Given the description of an element on the screen output the (x, y) to click on. 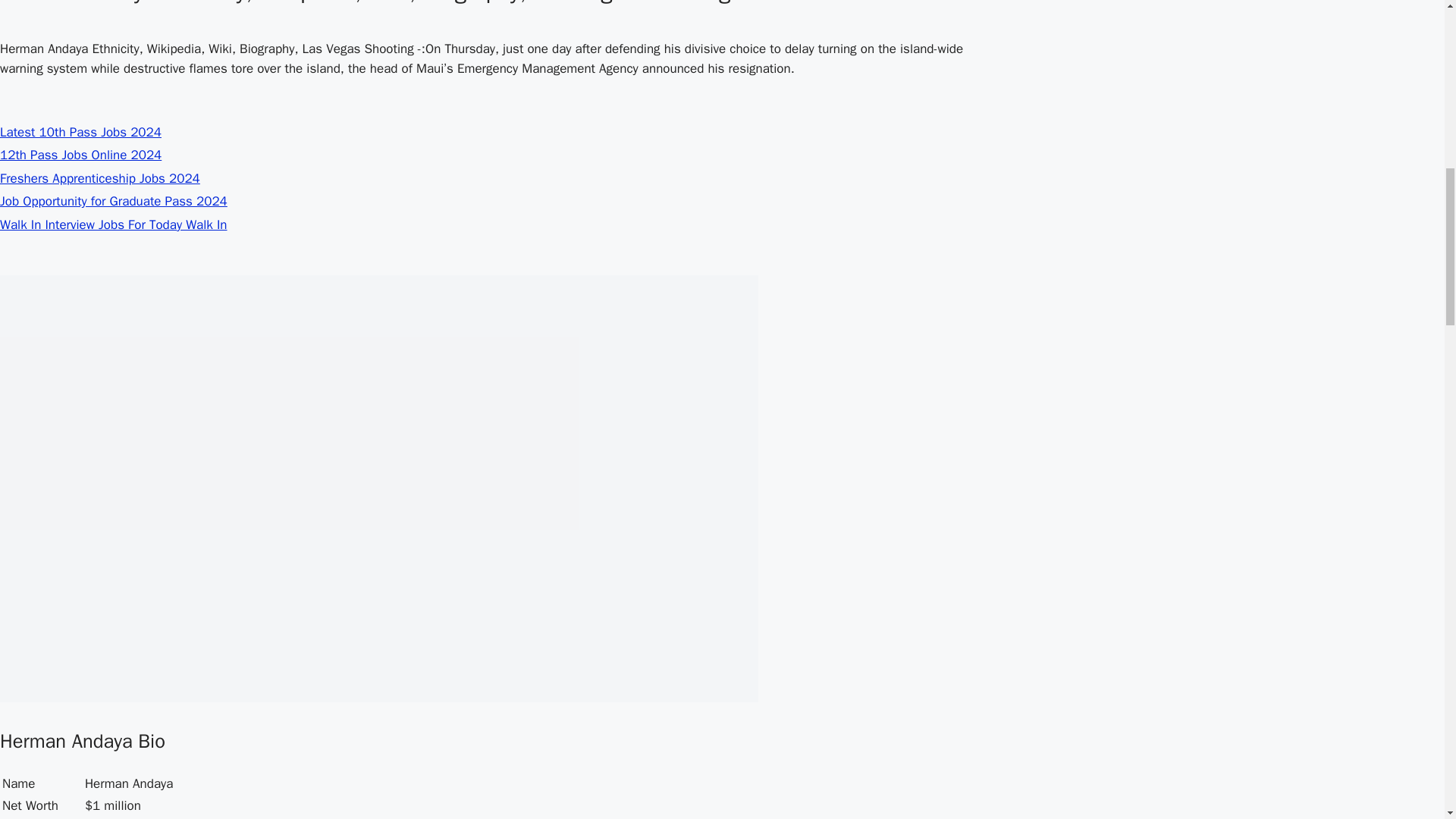
Latest 10th Pass Jobs 2024 (80, 132)
Freshers Apprenticeship Jobs 2024 (100, 177)
Walk In Interview Jobs For Today Walk In (113, 224)
12th Pass Jobs Online 2024 (80, 154)
Job Opportunity for Graduate Pass 2024 (113, 201)
